Given the description of an element on the screen output the (x, y) to click on. 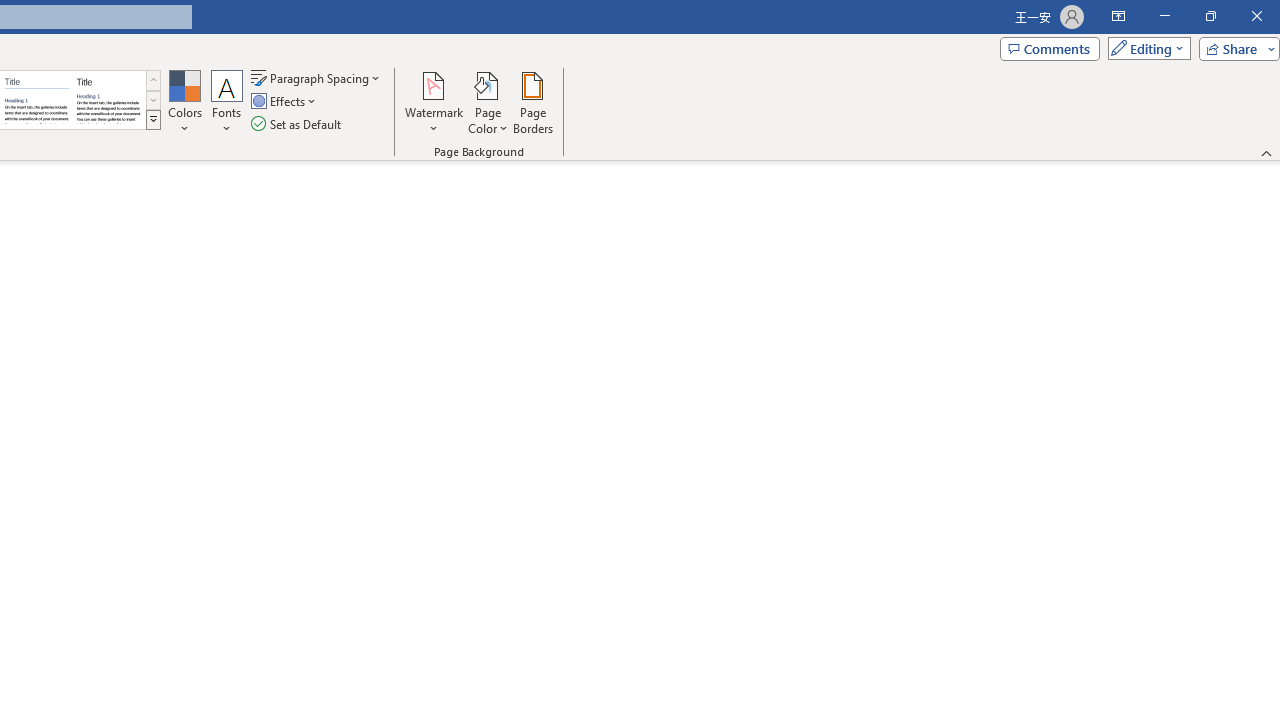
Page Borders... (532, 102)
Page Color (487, 102)
Paragraph Spacing (317, 78)
Effects (285, 101)
Style Set (153, 120)
Watermark (434, 102)
